Given the description of an element on the screen output the (x, y) to click on. 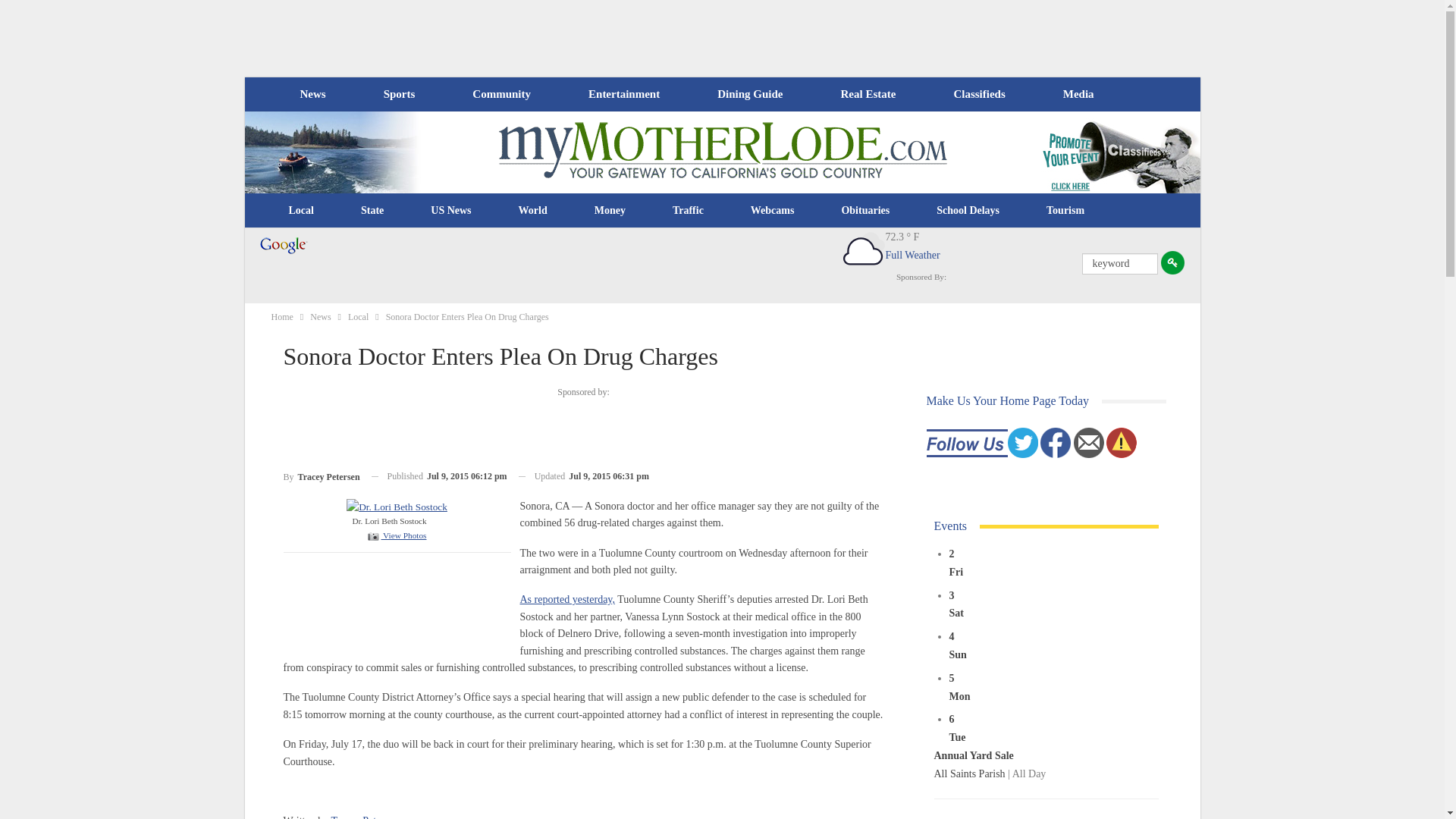
Obituaries (865, 210)
TCSO Booking photo (396, 505)
Sonora Doctor Enters Plea On Drug Charges (396, 534)
US News (451, 210)
Local (300, 210)
Real Estate (868, 93)
Entertainment (624, 93)
Tourism (1065, 210)
Media (1078, 93)
